Given the description of an element on the screen output the (x, y) to click on. 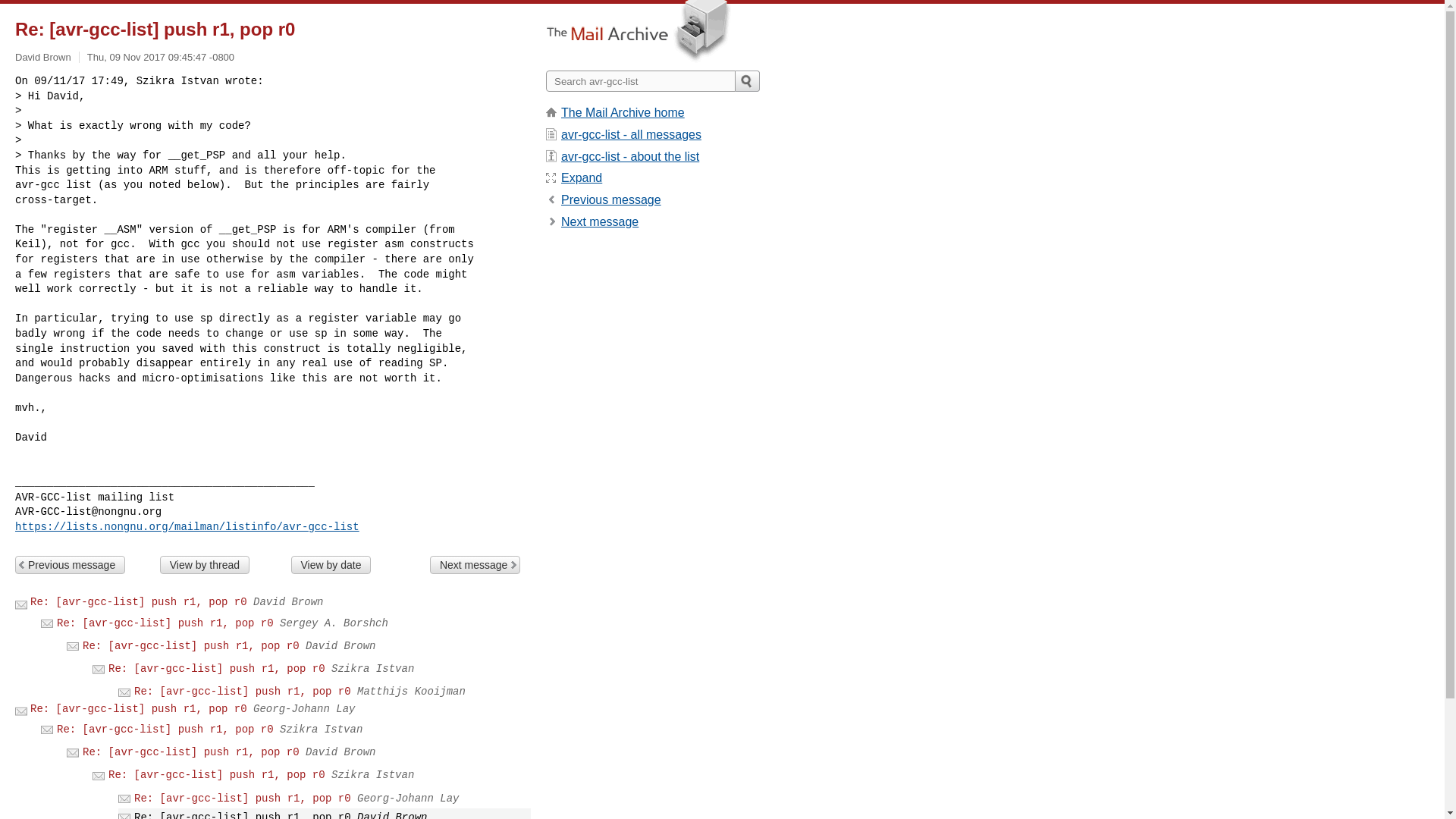
The Mail Archive home (622, 112)
e (581, 177)
Next message (474, 565)
n (599, 221)
Expand (581, 177)
avr-gcc-list - about the list (629, 155)
View by date (331, 565)
Previous message (69, 565)
Previous message (610, 199)
p (610, 199)
Next message (599, 221)
Thu, 09 Nov 2017 09:45:47 -0800 (160, 57)
View by thread (204, 565)
avr-gcc-list - all messages (630, 133)
David Brown (42, 57)
